Given the description of an element on the screen output the (x, y) to click on. 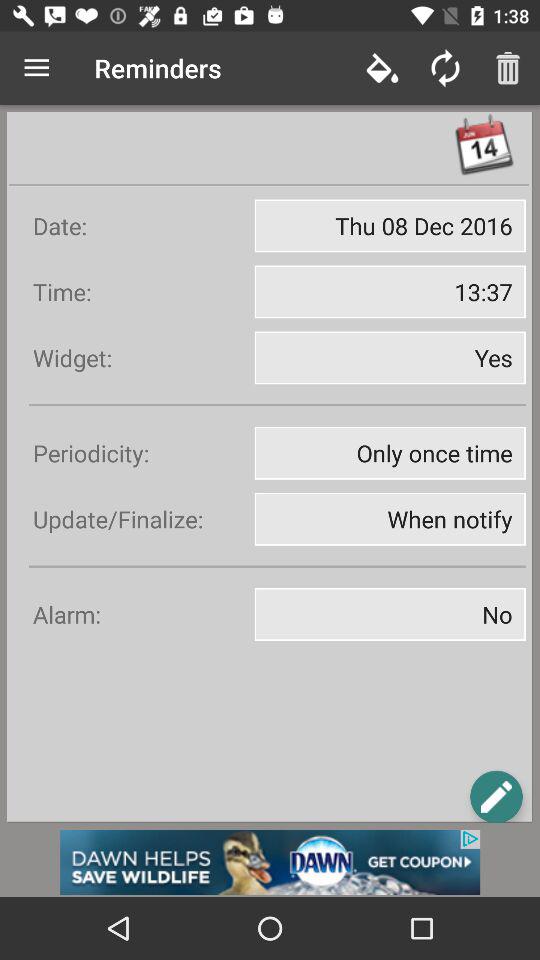
web advertisement (270, 861)
